Given the description of an element on the screen output the (x, y) to click on. 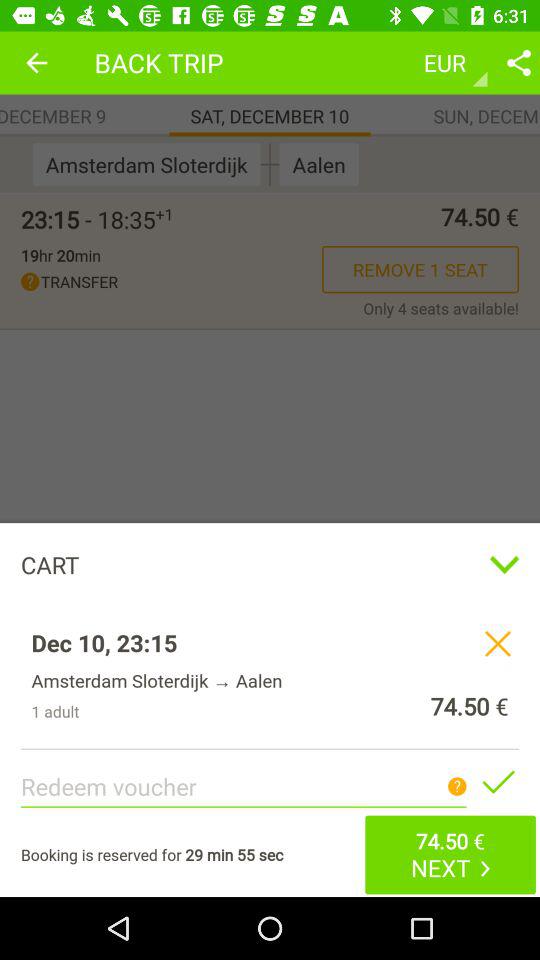
remove item (498, 643)
